Given the description of an element on the screen output the (x, y) to click on. 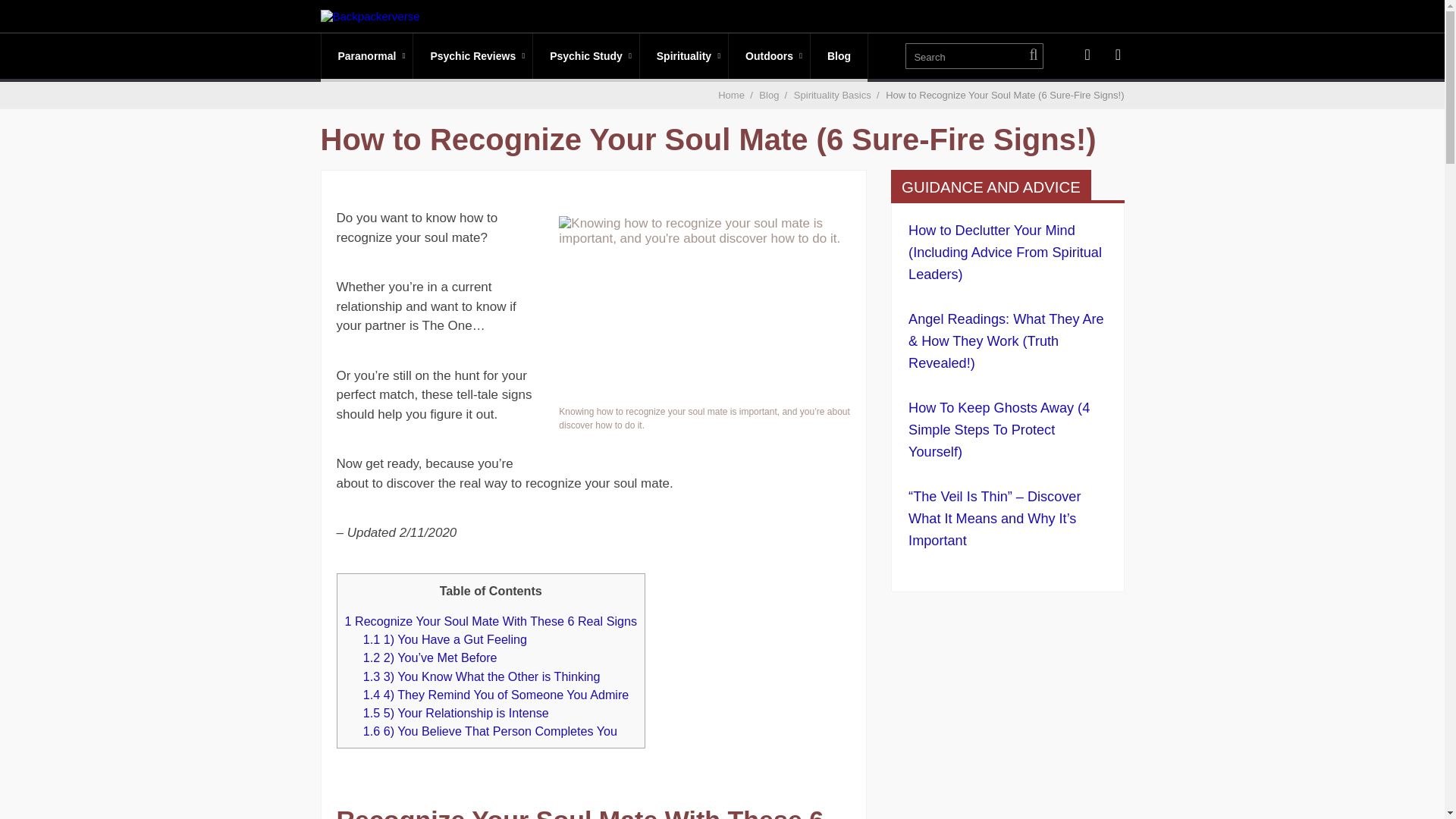
Paranormal (367, 55)
Psychic Reviews (472, 55)
Psychic Study (585, 55)
